Given the description of an element on the screen output the (x, y) to click on. 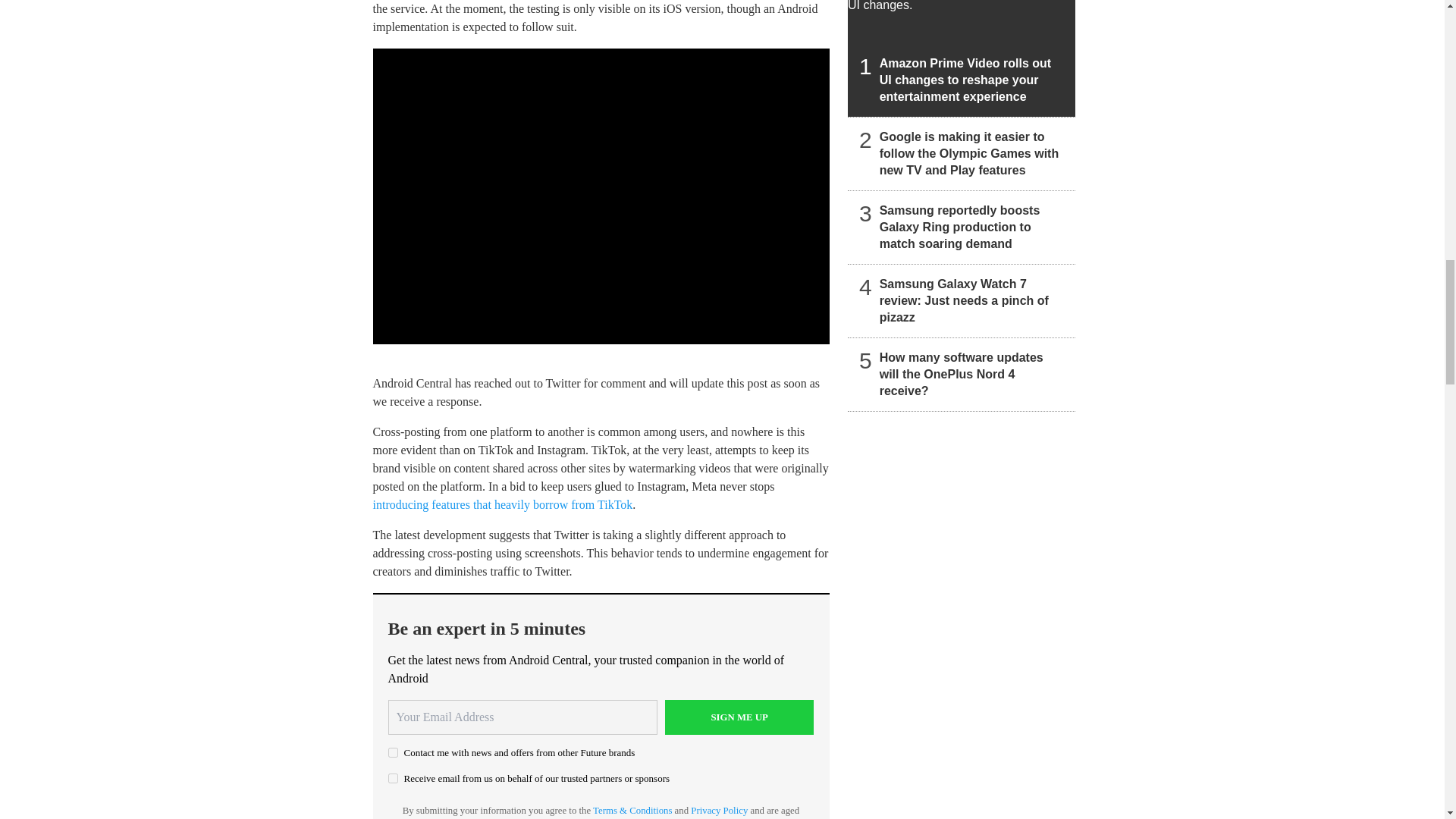
Sign me up (739, 717)
on (392, 777)
on (392, 752)
